Given the description of an element on the screen output the (x, y) to click on. 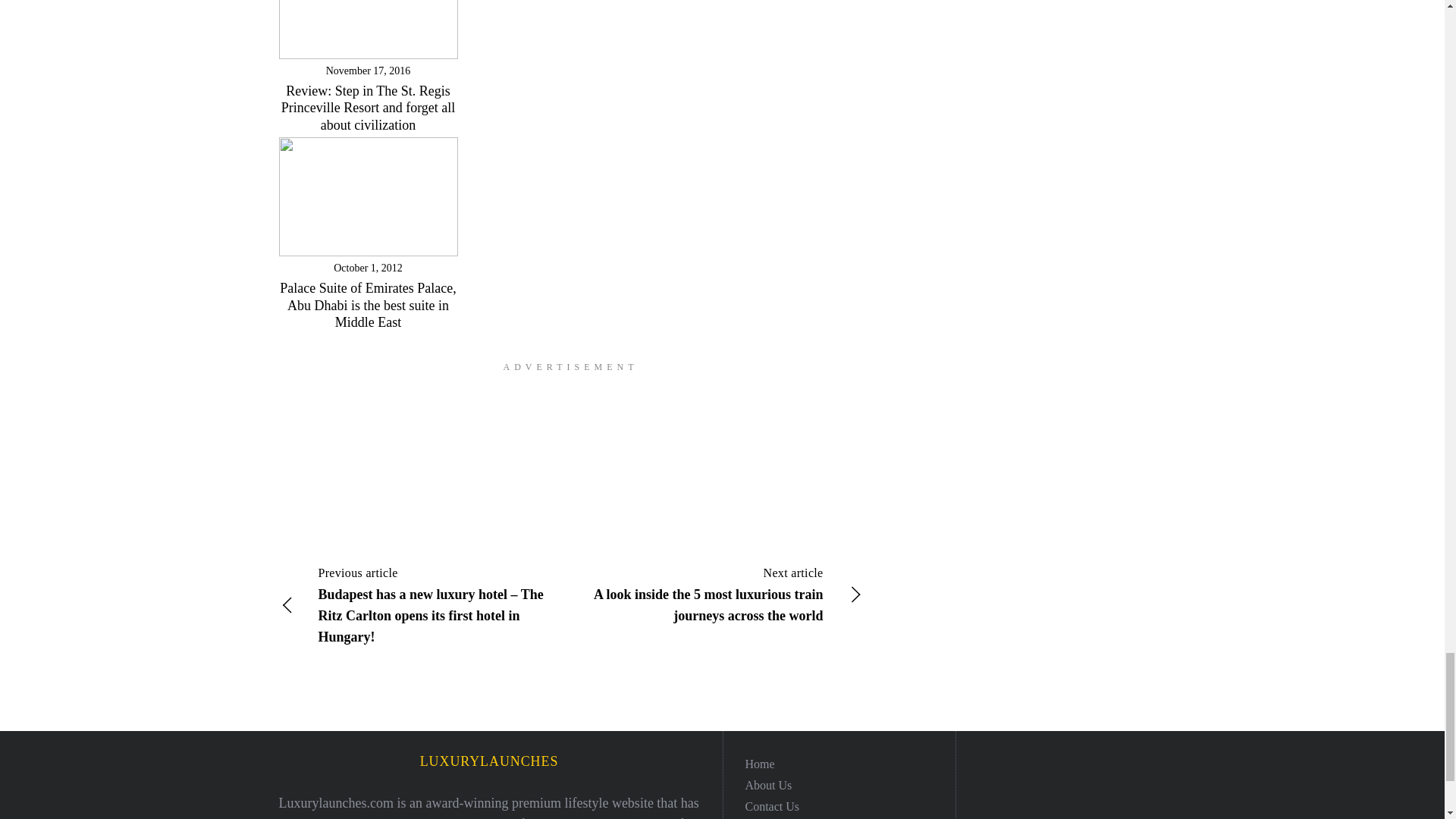
About Us (768, 784)
Contact us (771, 805)
Home (759, 762)
